Given the description of an element on the screen output the (x, y) to click on. 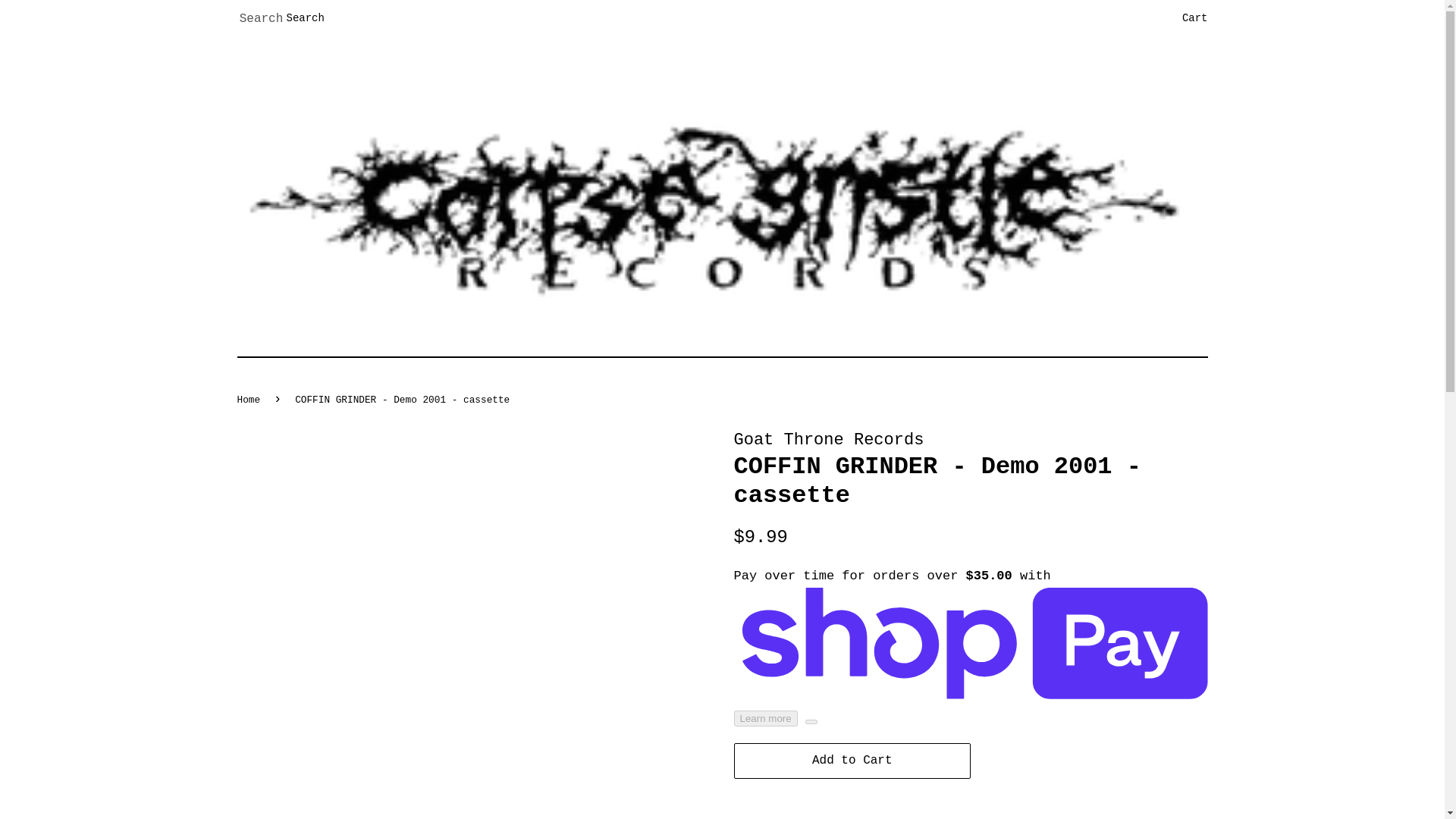
Home (249, 399)
Search (260, 18)
Back to the frontpage (249, 399)
Cart (1195, 18)
Add to Cart (852, 760)
